Given the description of an element on the screen output the (x, y) to click on. 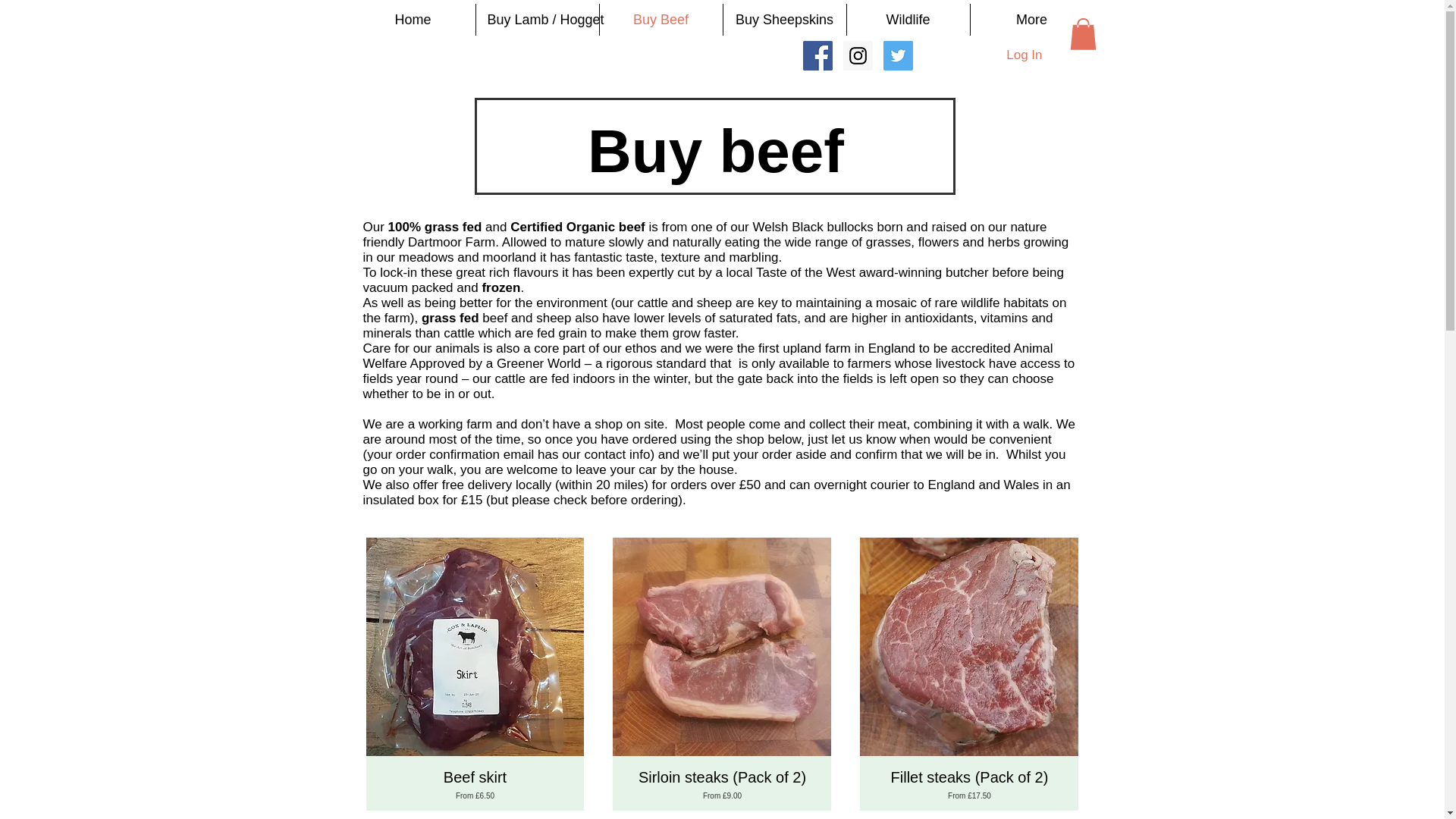
Log In (1023, 54)
Buy Beef (660, 20)
Home (412, 20)
Wildlife (907, 20)
Buy Sheepskins (784, 20)
